Given the description of an element on the screen output the (x, y) to click on. 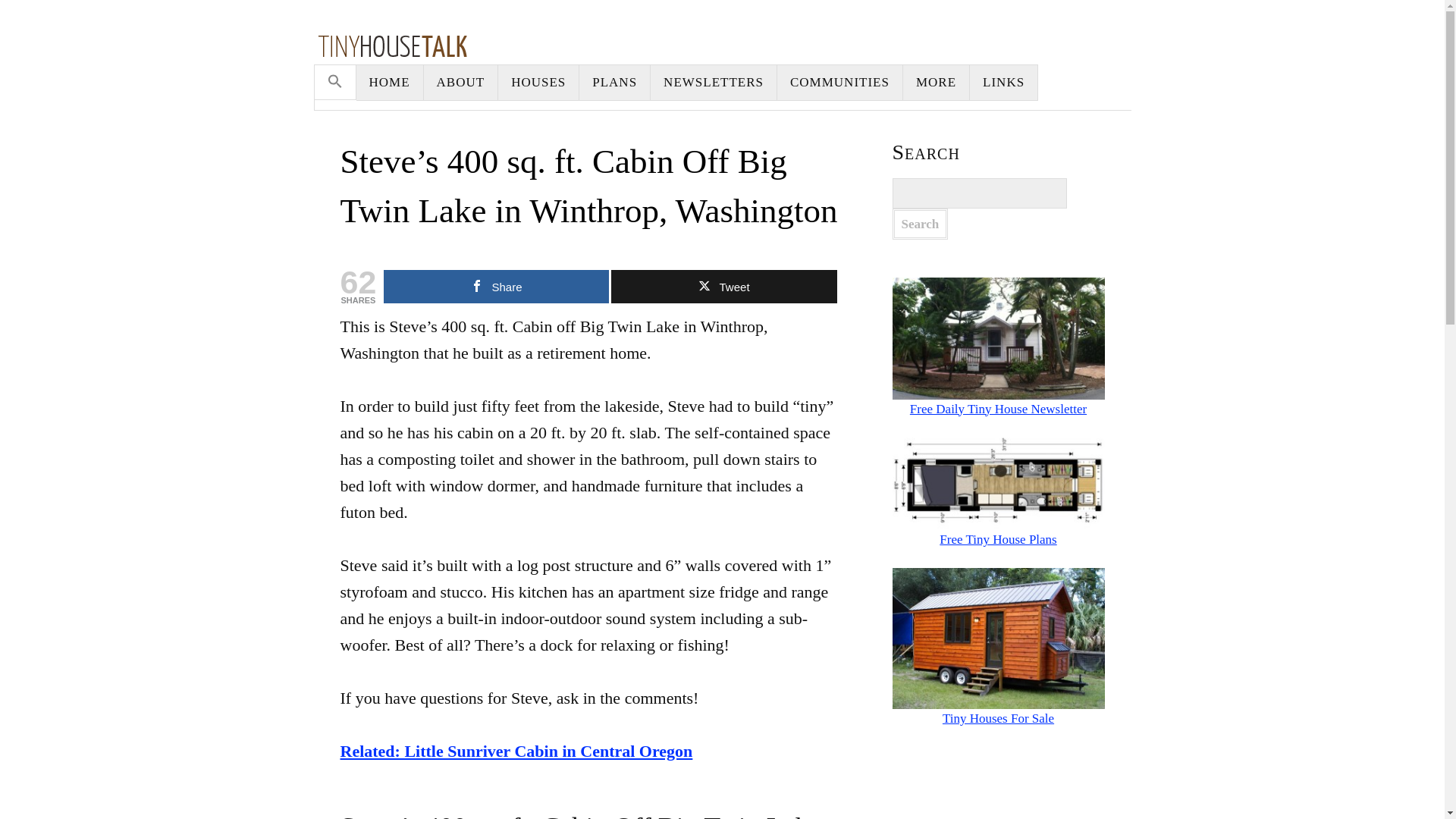
HOME (389, 82)
COMMUNITIES (839, 82)
ABOUT (461, 82)
PLANS (614, 82)
NEWSLETTERS (713, 82)
Search (919, 223)
HOUSES (538, 82)
MORE (935, 82)
